Given the description of an element on the screen output the (x, y) to click on. 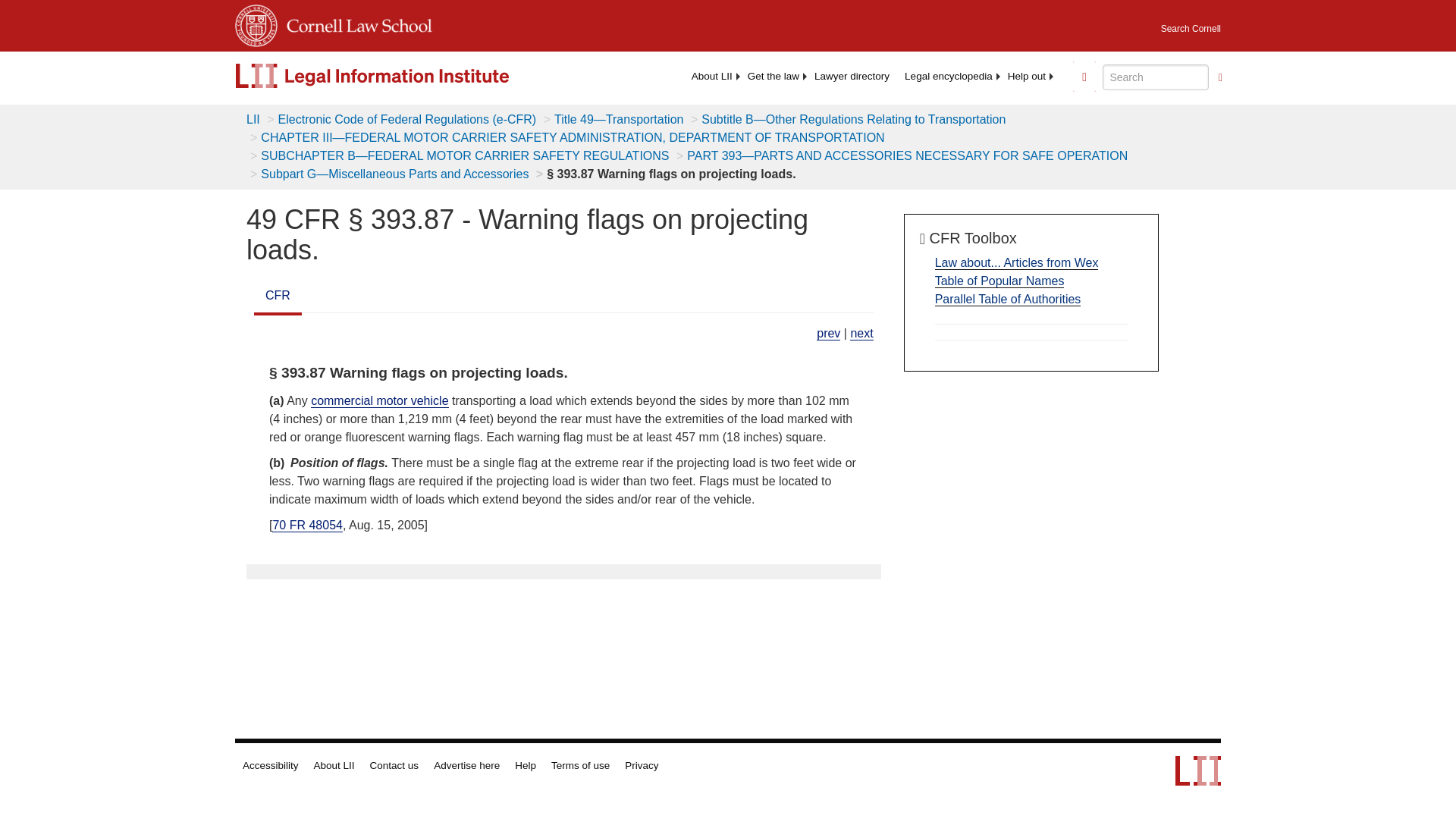
Search Cornell University (1190, 24)
Cornell Law School (355, 23)
Rear impact guards and rear end protection. (828, 333)
Cornell Law School (355, 23)
Legal encyclopedia (948, 76)
About LII (711, 76)
Search Cornell (1190, 24)
Lawyer directory (851, 76)
Get the law (772, 76)
Cornell University (256, 23)
